Given the description of an element on the screen output the (x, y) to click on. 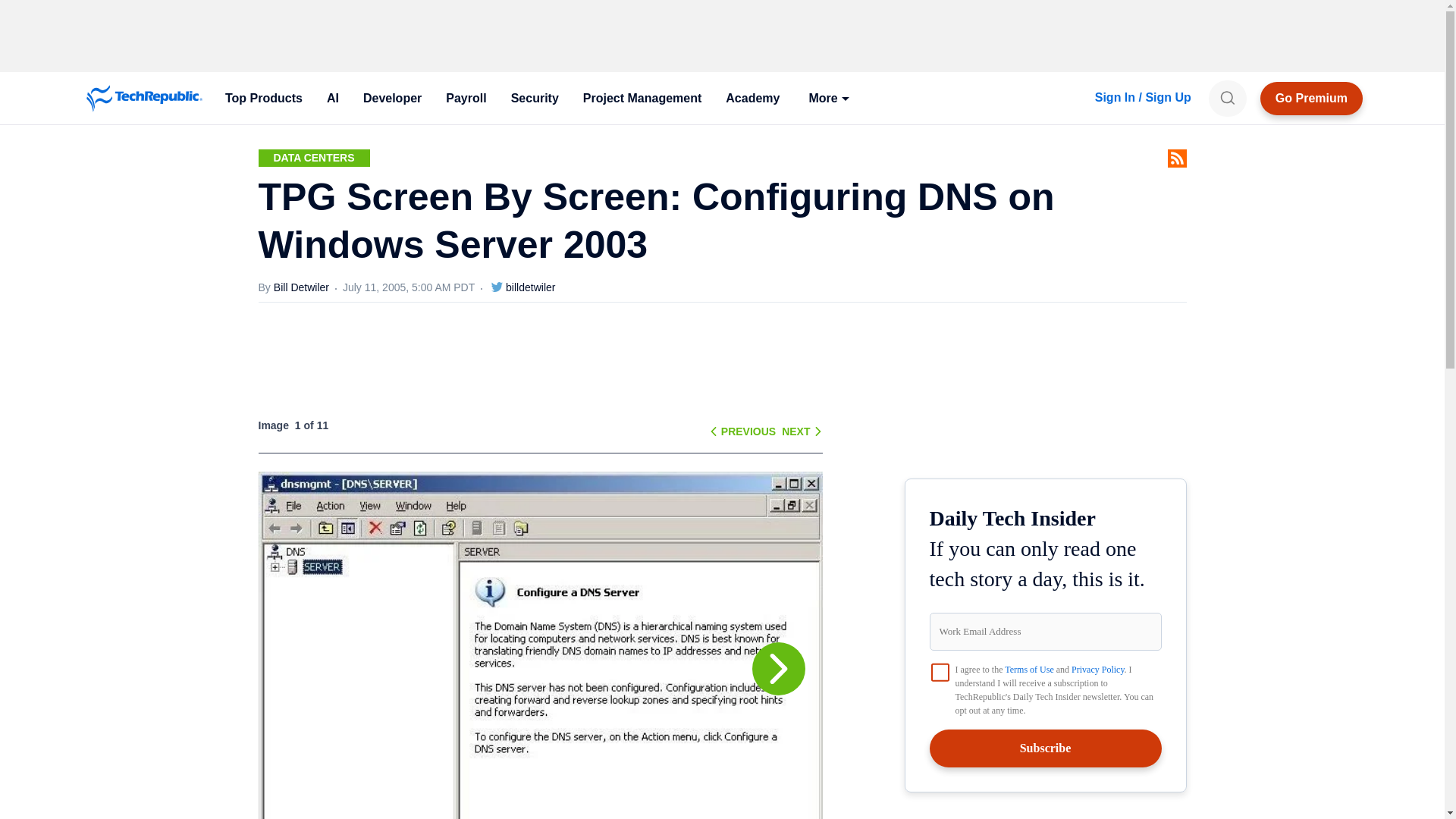
Bill Detwiler on Twitter billdetwiler (514, 287)
TechRepublic (143, 98)
DATA CENTERS (313, 158)
on (940, 672)
Bill Detwiler (307, 287)
Security (534, 98)
Academy (752, 98)
Bill Detwiler on Twitter (497, 286)
Developer (392, 98)
Go Premium (1311, 98)
Payroll (465, 98)
Project Management (641, 98)
PREVIOUS (748, 431)
TechRepublic (143, 98)
TechRepublic Premium (1311, 98)
